Given the description of an element on the screen output the (x, y) to click on. 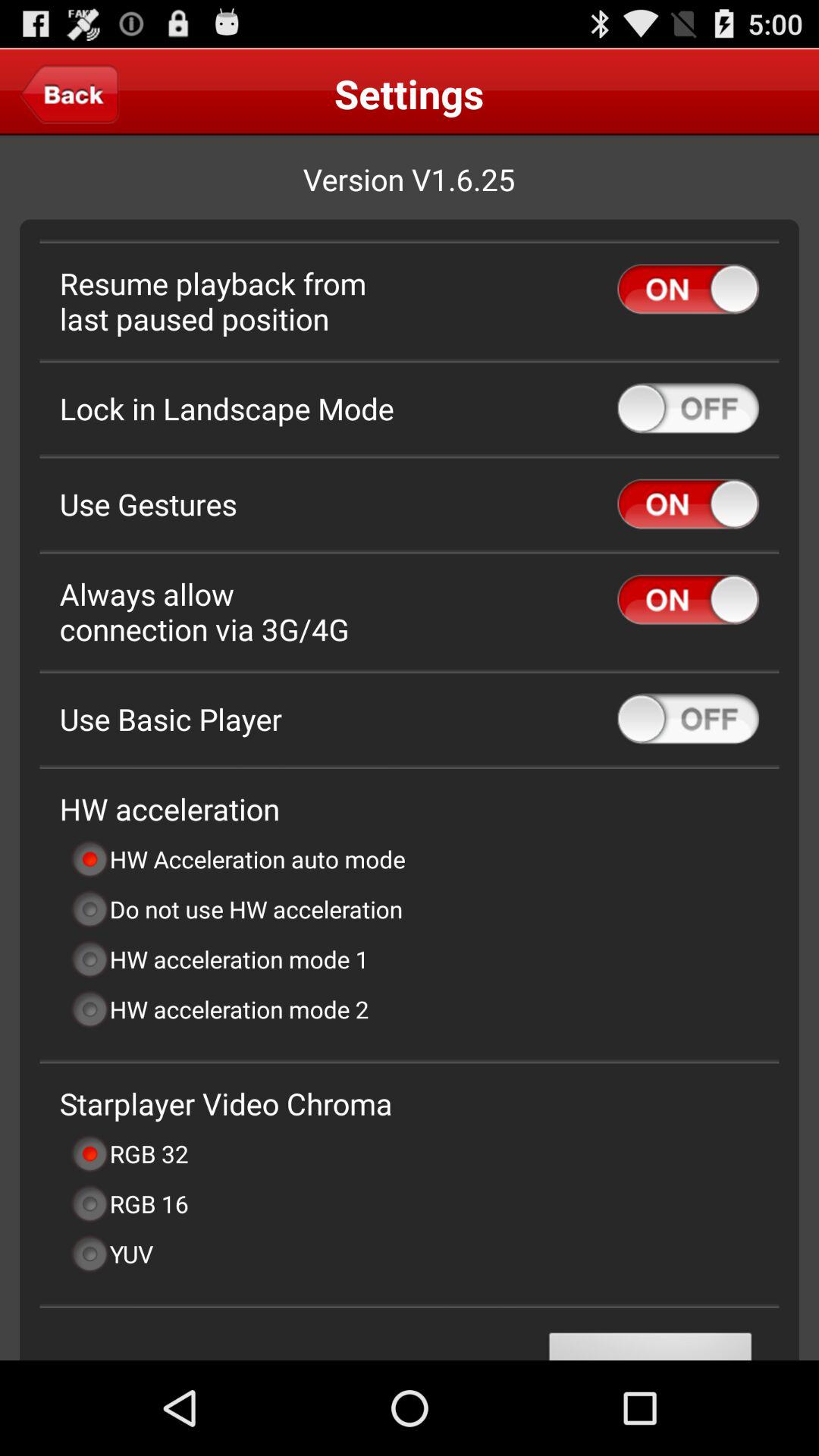
play/pause toggle switch (688, 289)
